Given the description of an element on the screen output the (x, y) to click on. 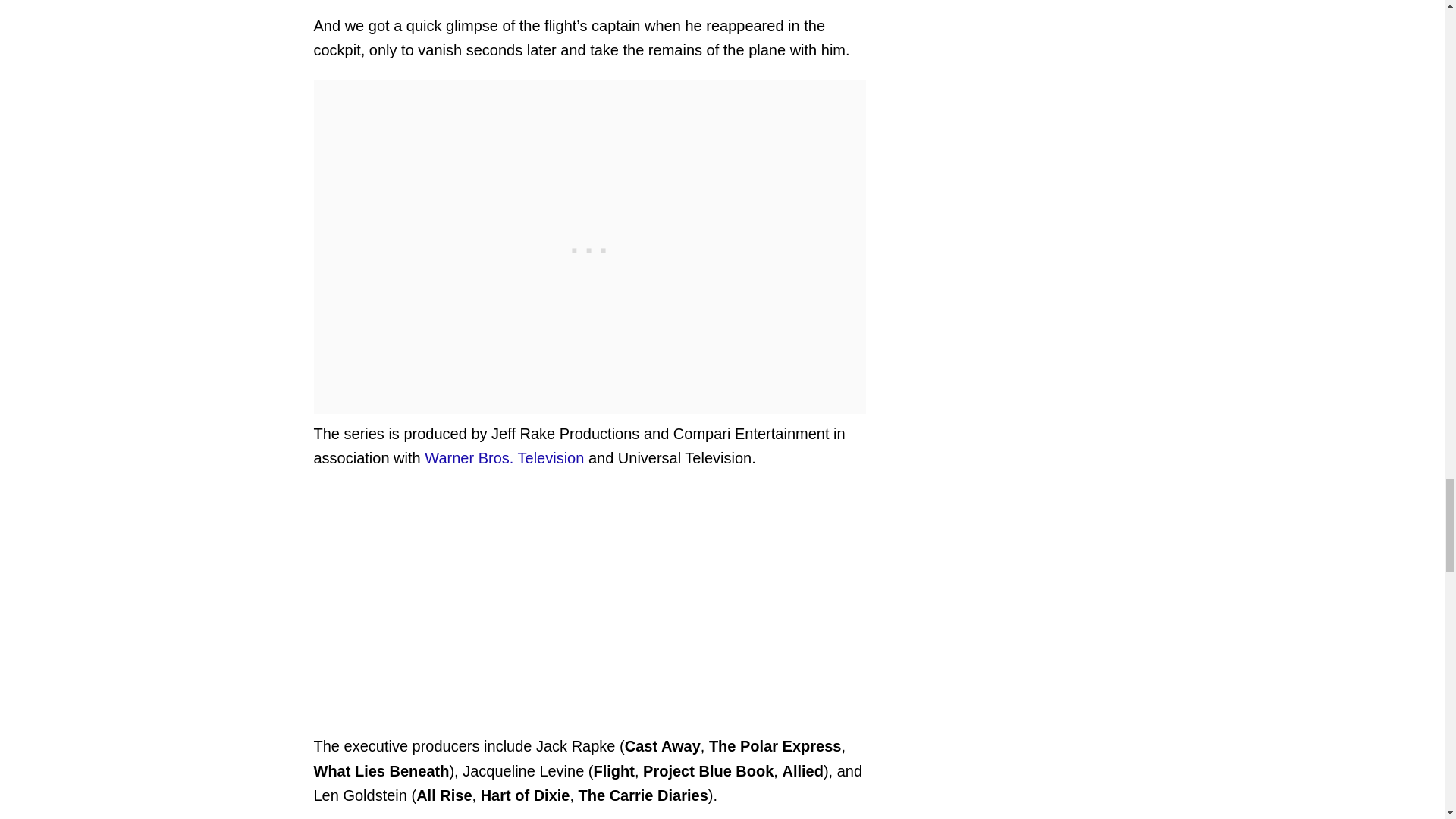
Warner Bros. Television (504, 457)
